Given the description of an element on the screen output the (x, y) to click on. 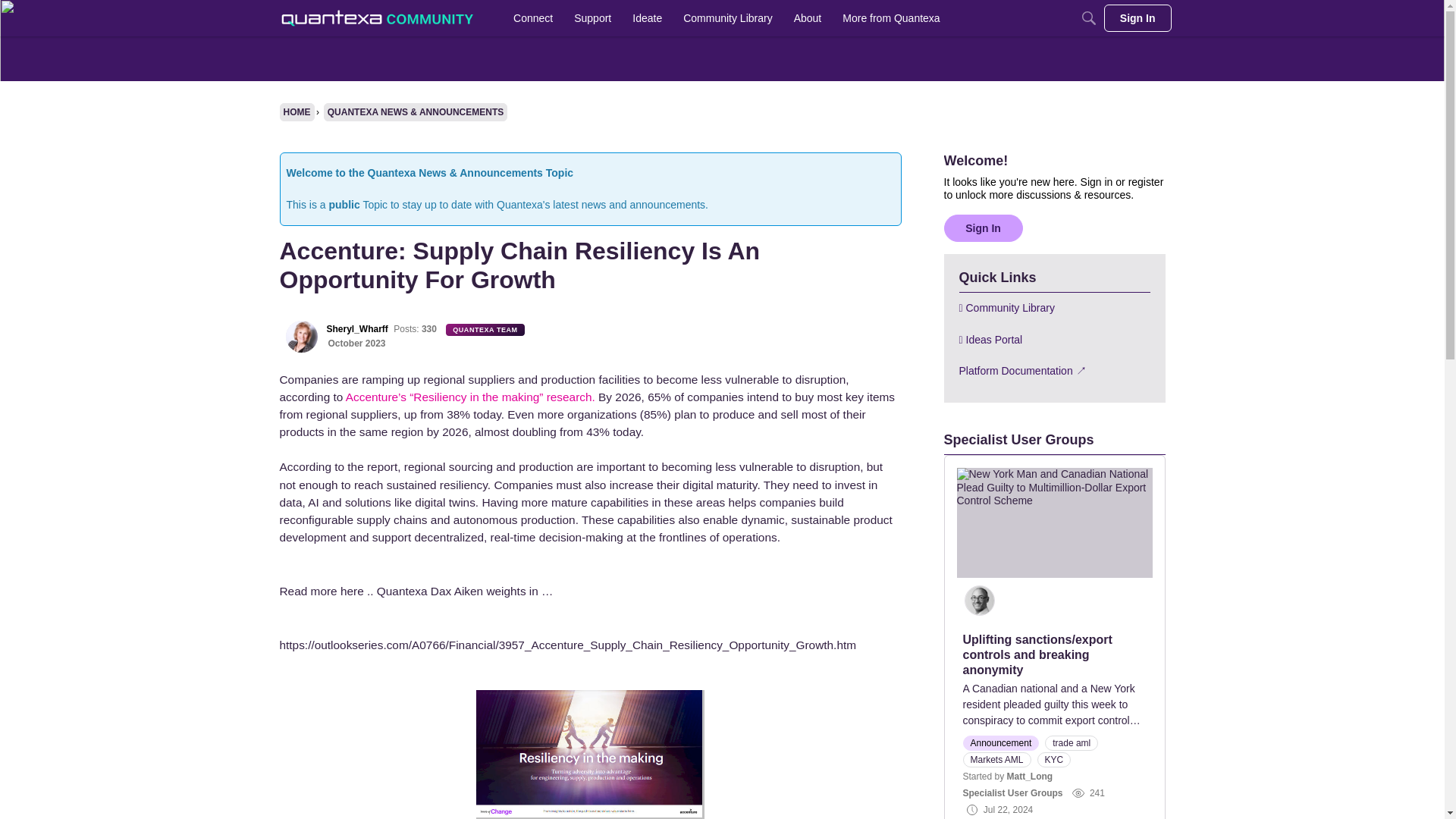
October 2023 (356, 343)
More from Quantexa (889, 17)
Monday, July 22, 2024 at 10:02 PM (1008, 809)
Search (1088, 17)
HOME (297, 112)
Sign In (1137, 17)
Support (592, 17)
trade aml (1071, 743)
About (807, 17)
Sign In (982, 226)
